Given the description of an element on the screen output the (x, y) to click on. 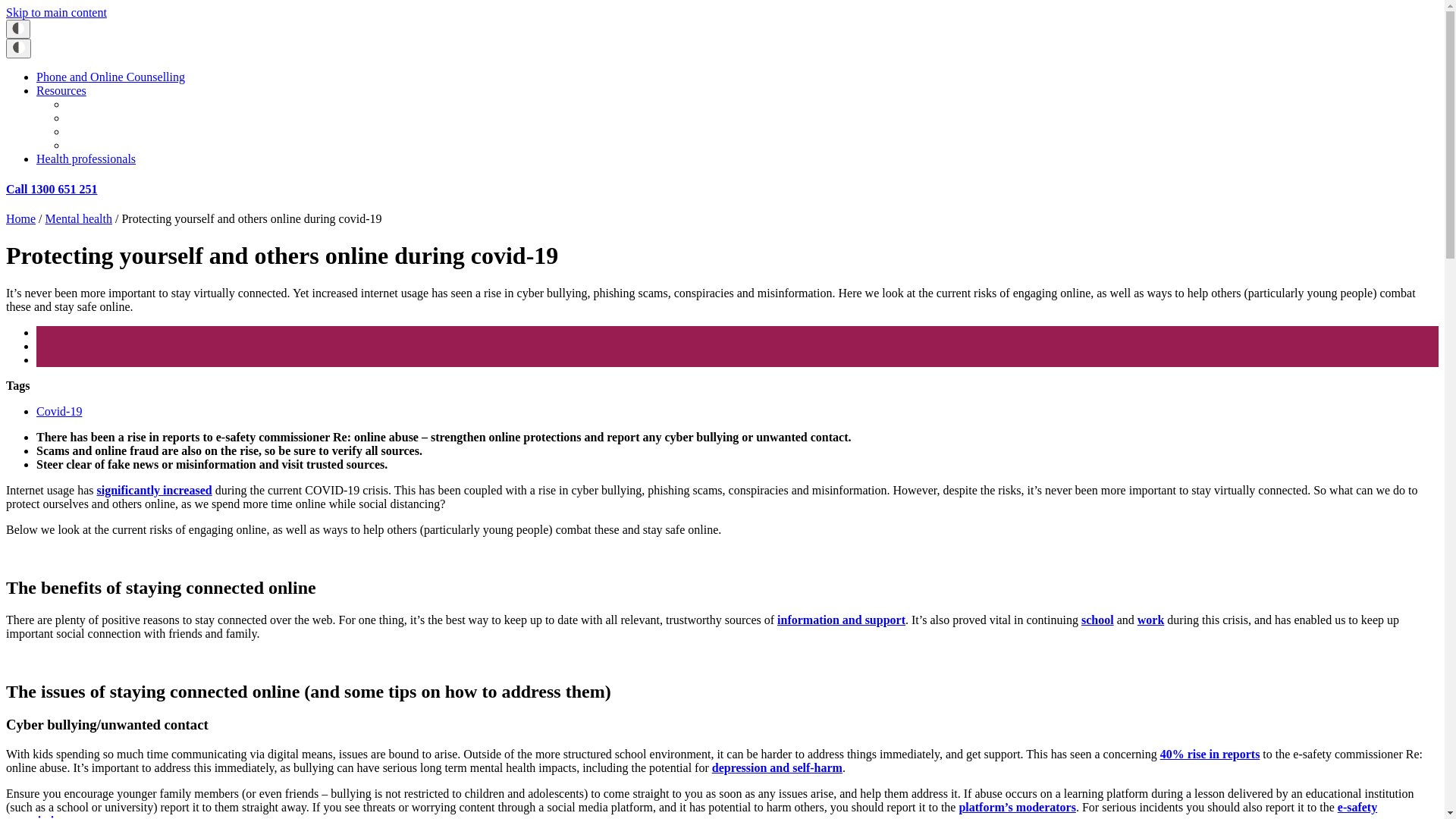
Resources Element type: text (61, 90)
school Element type: text (1097, 619)
Toggle High Contrast icon Element type: text (18, 28)
40% rise in reports Element type: text (1210, 753)
Mental health Element type: text (78, 218)
Covid-19 Element type: text (58, 410)
information and support Element type: text (841, 619)
Skip to main content Element type: text (56, 12)
depression and self-harm Element type: text (777, 767)
Home Element type: text (20, 218)
Toggle High Contrast icon Element type: text (18, 48)
Mental health Element type: text (99, 144)
Thinking about suicide Element type: text (122, 103)
Phone and Online Counselling Element type: text (110, 76)
significantly increased Element type: text (154, 489)
work Element type: text (1150, 619)
Call 1300 651 251 Element type: text (51, 188)
Concerned about someone Element type: text (130, 117)
Bereaved by suicide Element type: text (115, 131)
Health professionals Element type: text (85, 158)
